Given the description of an element on the screen output the (x, y) to click on. 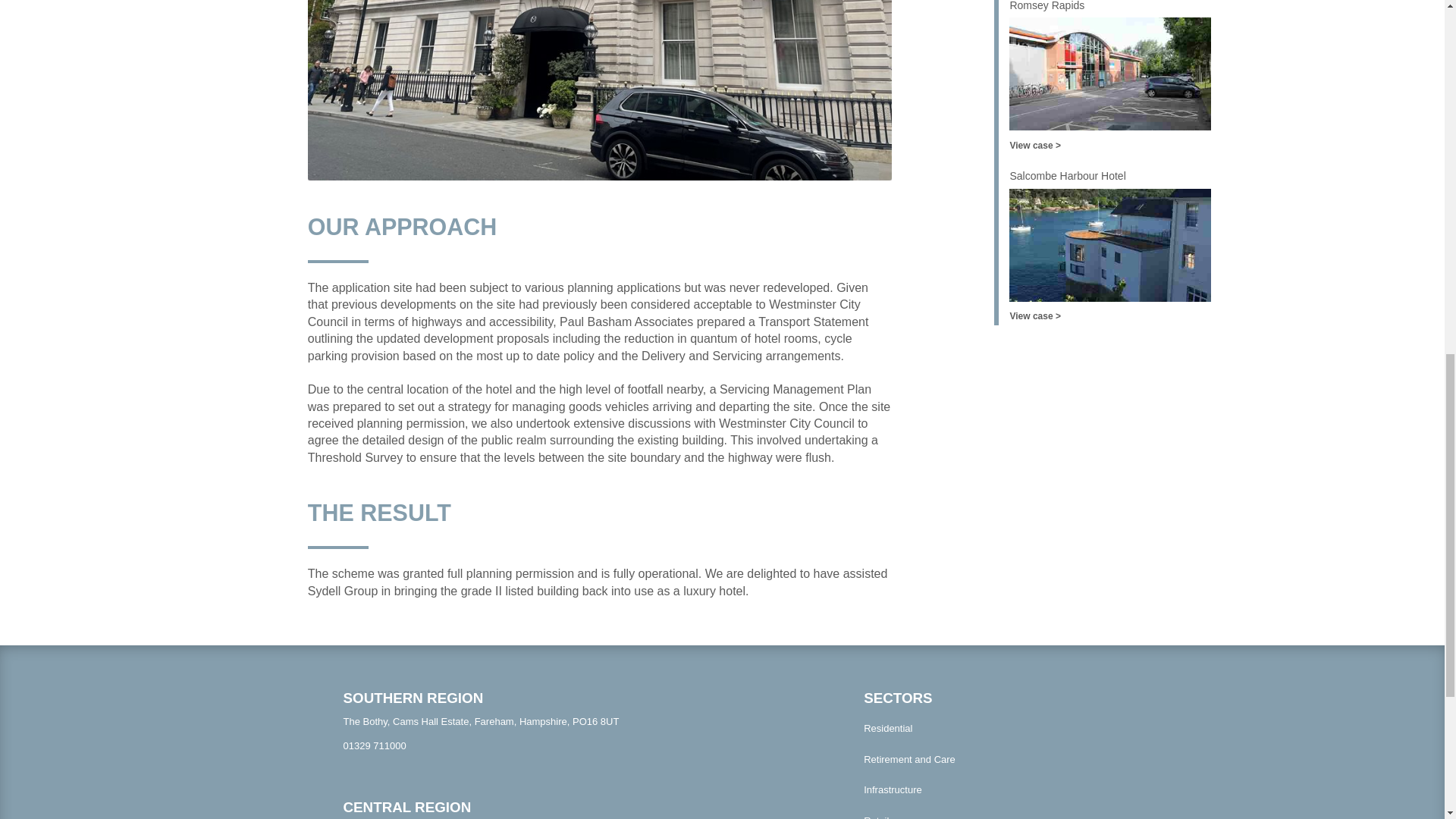
Retirement and Care (981, 759)
Infrastructure (981, 789)
Residential (981, 728)
Retail (981, 812)
